Given the description of an element on the screen output the (x, y) to click on. 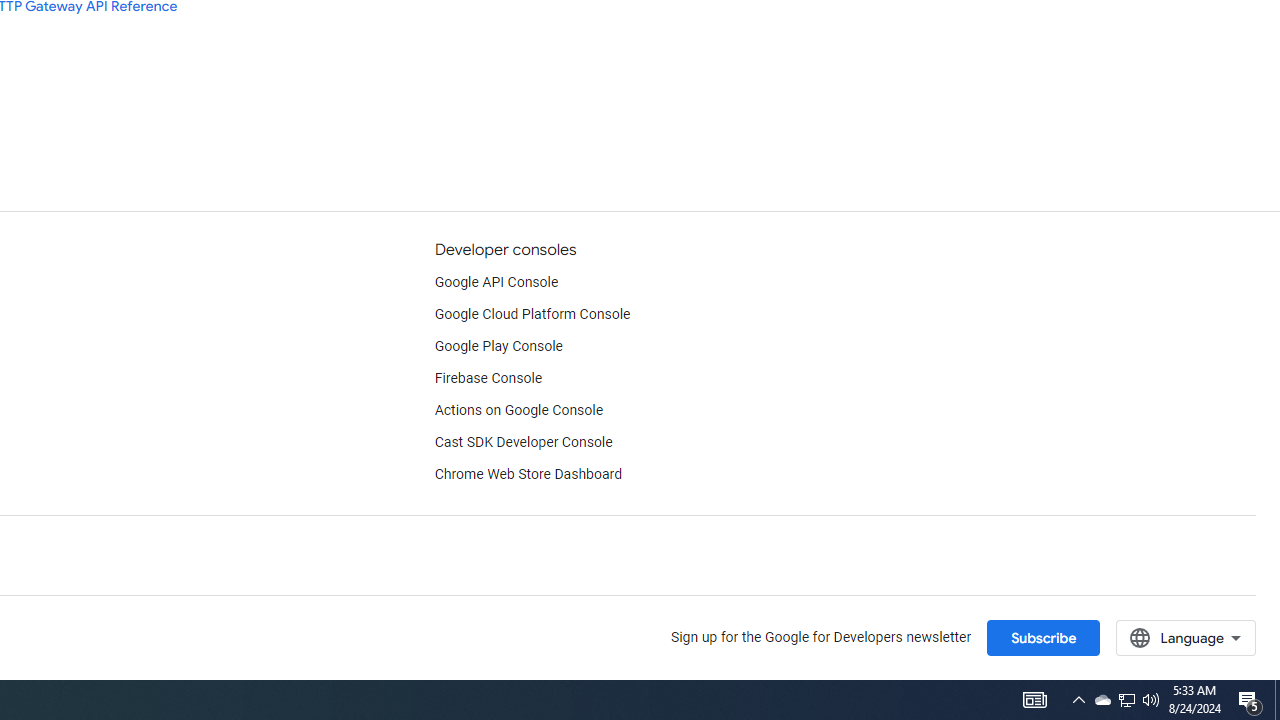
Subscribe (1043, 637)
Google Cloud Platform Console (532, 314)
Google Play Console (498, 346)
Firebase Console (487, 378)
Google API Console (496, 282)
Cast SDK Developer Console (523, 442)
Actions on Google Console (518, 410)
Chrome Web Store Dashboard (528, 475)
Language (1185, 637)
